Given the description of an element on the screen output the (x, y) to click on. 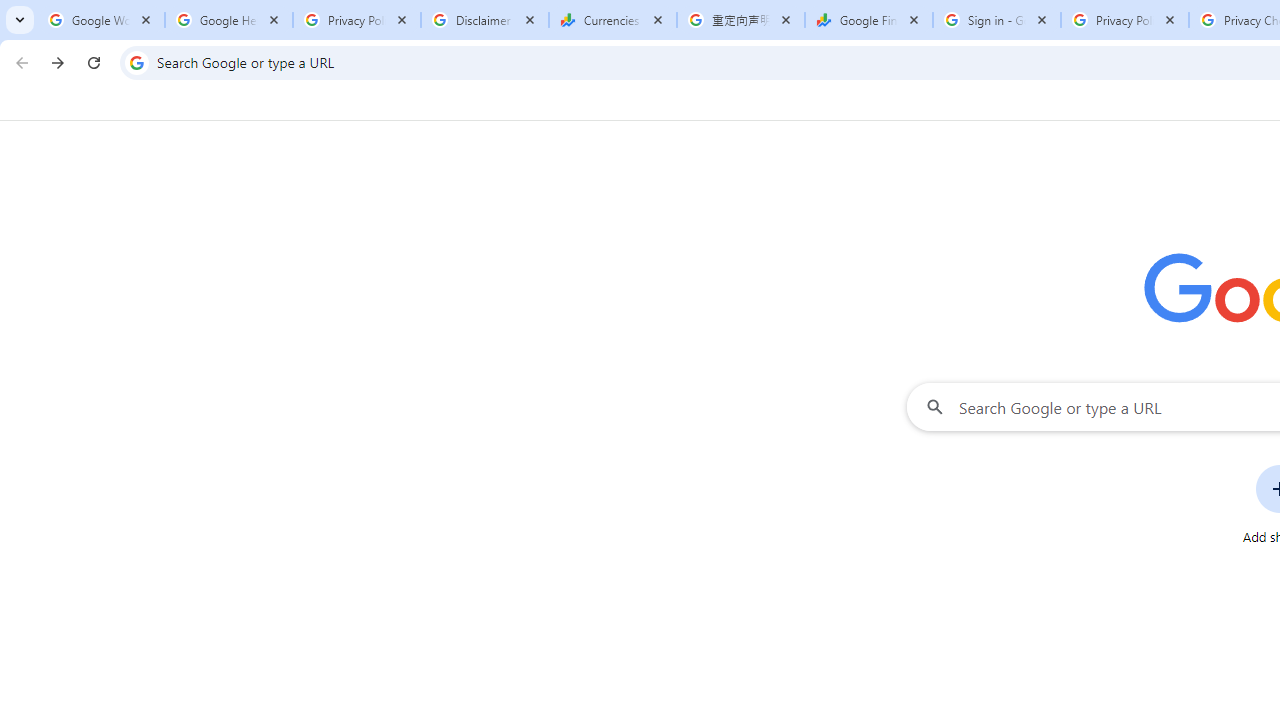
Currencies - Google Finance (613, 20)
Close (1169, 19)
Reload (93, 62)
Forward (57, 62)
Sign in - Google Accounts (997, 20)
System (10, 11)
Search tabs (20, 20)
Search icon (136, 62)
System (10, 11)
